Given the description of an element on the screen output the (x, y) to click on. 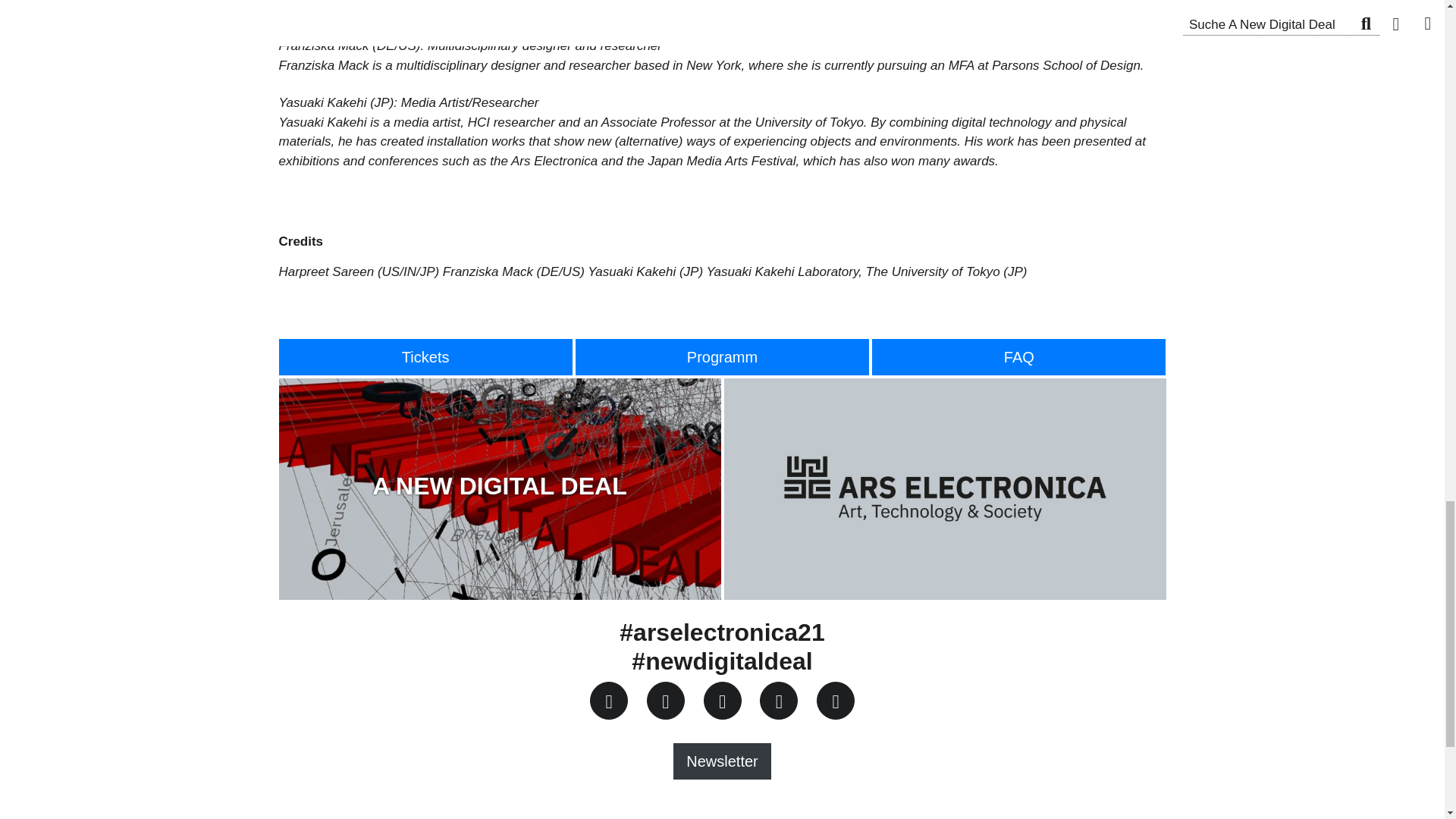
Facebook (608, 700)
Twitter (665, 700)
Instagram (722, 700)
Flickr (834, 701)
YouTube (778, 700)
